Given the description of an element on the screen output the (x, y) to click on. 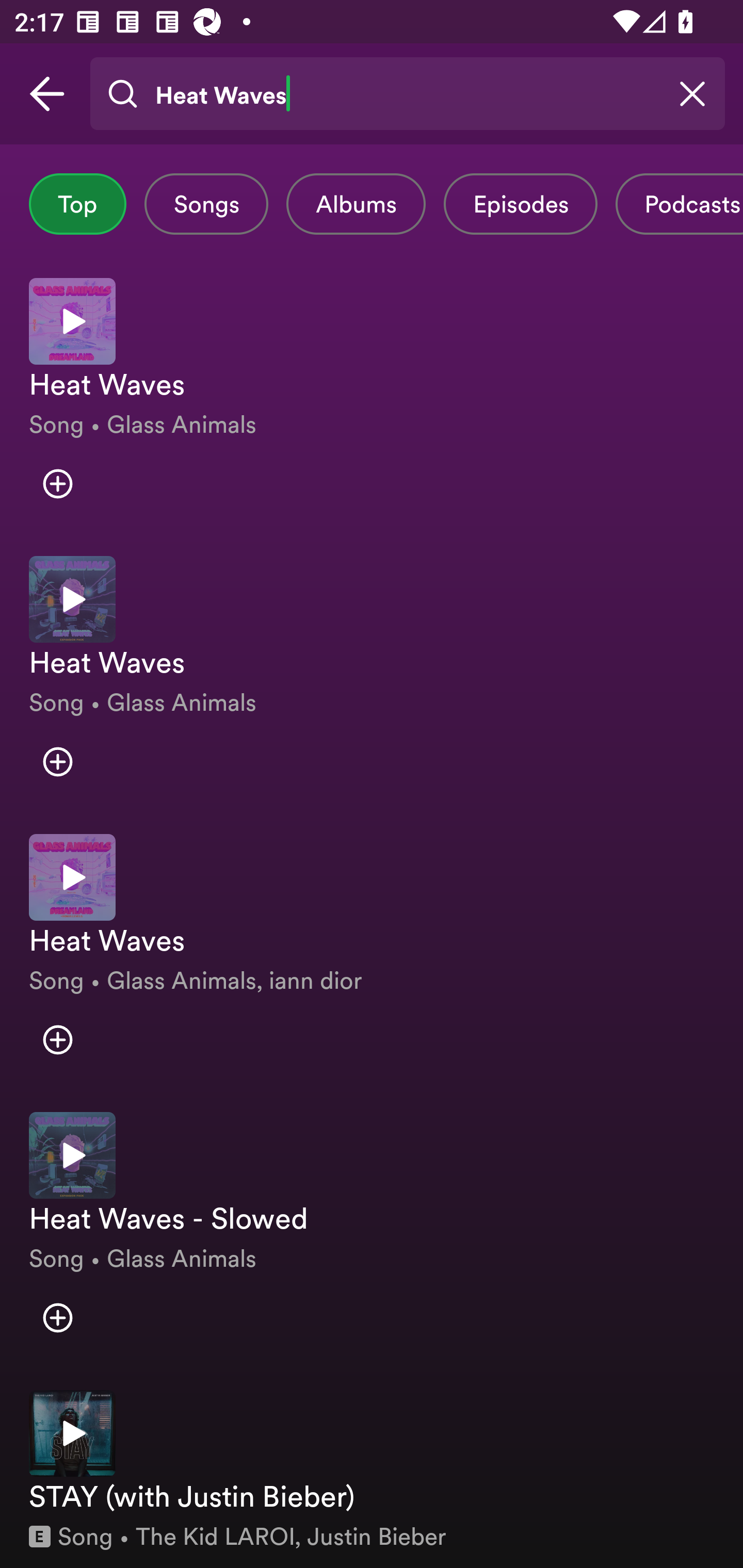
Back (46, 93)
Heat Waves Search (407, 94)
Clear Search (692, 94)
Top (77, 203)
Songs (206, 203)
Albums (355, 203)
Episodes (520, 203)
Podcasts (679, 203)
Play preview (71, 321)
Add item (57, 483)
Play preview (71, 599)
Add item (57, 761)
Play preview (71, 877)
Add item (57, 1040)
Play preview (71, 1154)
Add item (57, 1317)
Play preview (71, 1433)
